Given the description of an element on the screen output the (x, y) to click on. 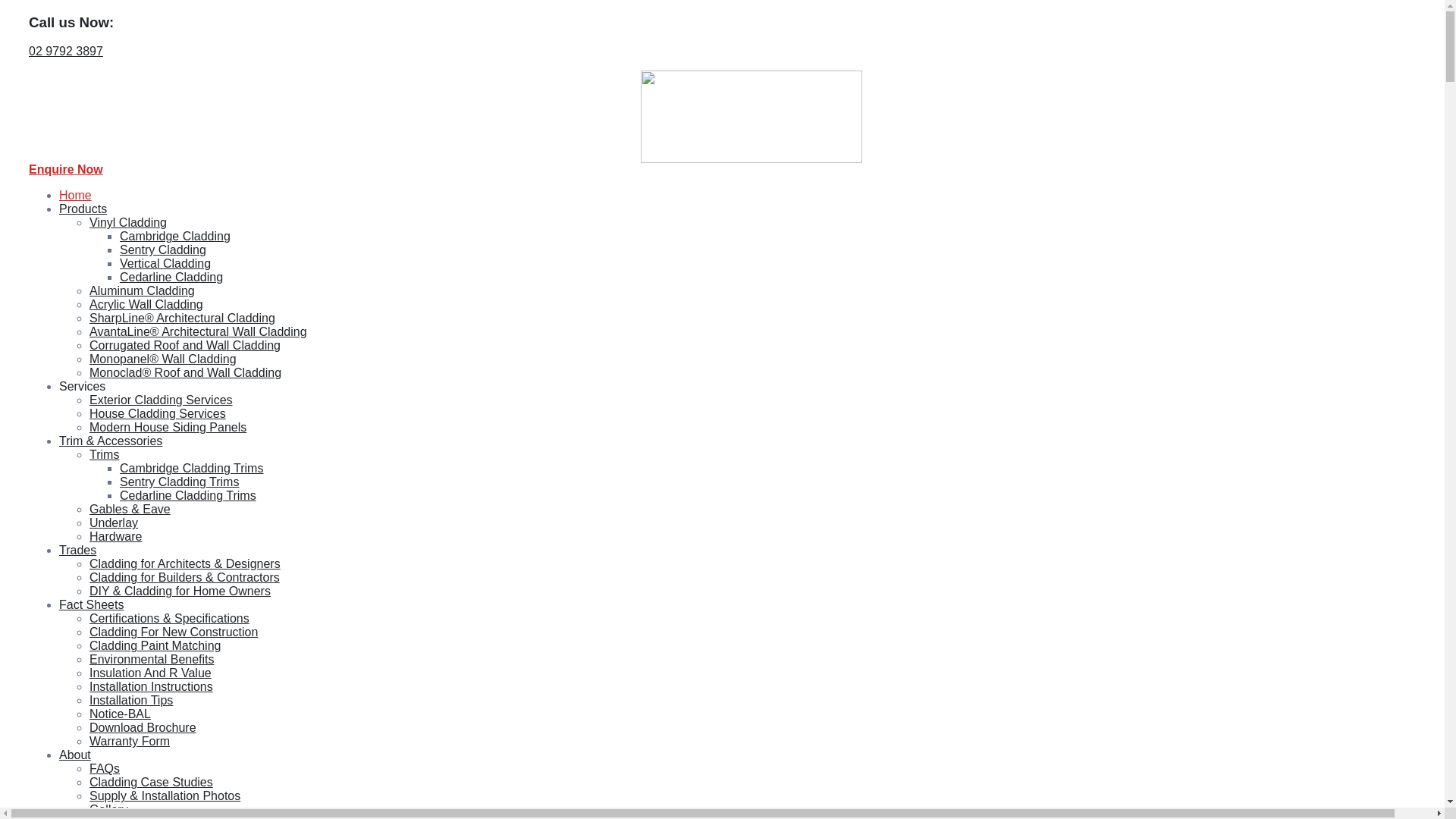
Trades Element type: text (77, 549)
Warranty Form Element type: text (129, 740)
Cladding For New Construction Element type: text (173, 631)
Hardware Element type: text (115, 536)
Supply & Installation Photos Element type: text (164, 795)
About Element type: text (75, 754)
02 9792 3897 Element type: text (65, 50)
Fact Sheets Element type: text (91, 604)
Underlay Element type: text (113, 522)
Products Element type: text (82, 208)
Notice-BAL Element type: text (119, 713)
Aluminum Cladding Element type: text (141, 290)
Download Brochure Element type: text (142, 727)
Acrylic Wall Cladding Element type: text (146, 304)
Insulation And R Value Element type: text (150, 672)
House Cladding Services Element type: text (157, 413)
Gables & Eave Element type: text (129, 508)
Cladding for Architects & Designers Element type: text (184, 563)
Corrugated Roof and Wall Cladding Element type: text (184, 344)
FAQs Element type: text (104, 768)
Cladding Paint Matching Element type: text (154, 645)
Installation Instructions Element type: text (151, 686)
Vinyl Cladding Element type: text (127, 222)
Services Element type: text (82, 385)
DIY & Cladding for Home Owners Element type: text (179, 590)
Cambridge Cladding Trims Element type: text (191, 467)
Environmental Benefits Element type: text (151, 658)
Modern House Siding Panels Element type: text (167, 426)
Cladding for Builders & Contractors Element type: text (184, 577)
Sentry Cladding Trims Element type: text (178, 481)
Cedarline Cladding Element type: text (170, 276)
Installation Tips Element type: text (130, 699)
Cambridge Cladding Element type: text (174, 235)
Vertical Cladding Element type: text (164, 263)
Cedarline Cladding Trims Element type: text (187, 495)
Certifications & Specifications Element type: text (169, 617)
Trim & Accessories Element type: text (110, 440)
Gallery Element type: text (108, 809)
Exterior Cladding Services Element type: text (160, 399)
Home Element type: text (75, 194)
Cladding Case Studies Element type: text (151, 781)
Sentry Cladding Element type: text (162, 249)
Trims Element type: text (104, 454)
Enquire Now Element type: text (65, 169)
